Given the description of an element on the screen output the (x, y) to click on. 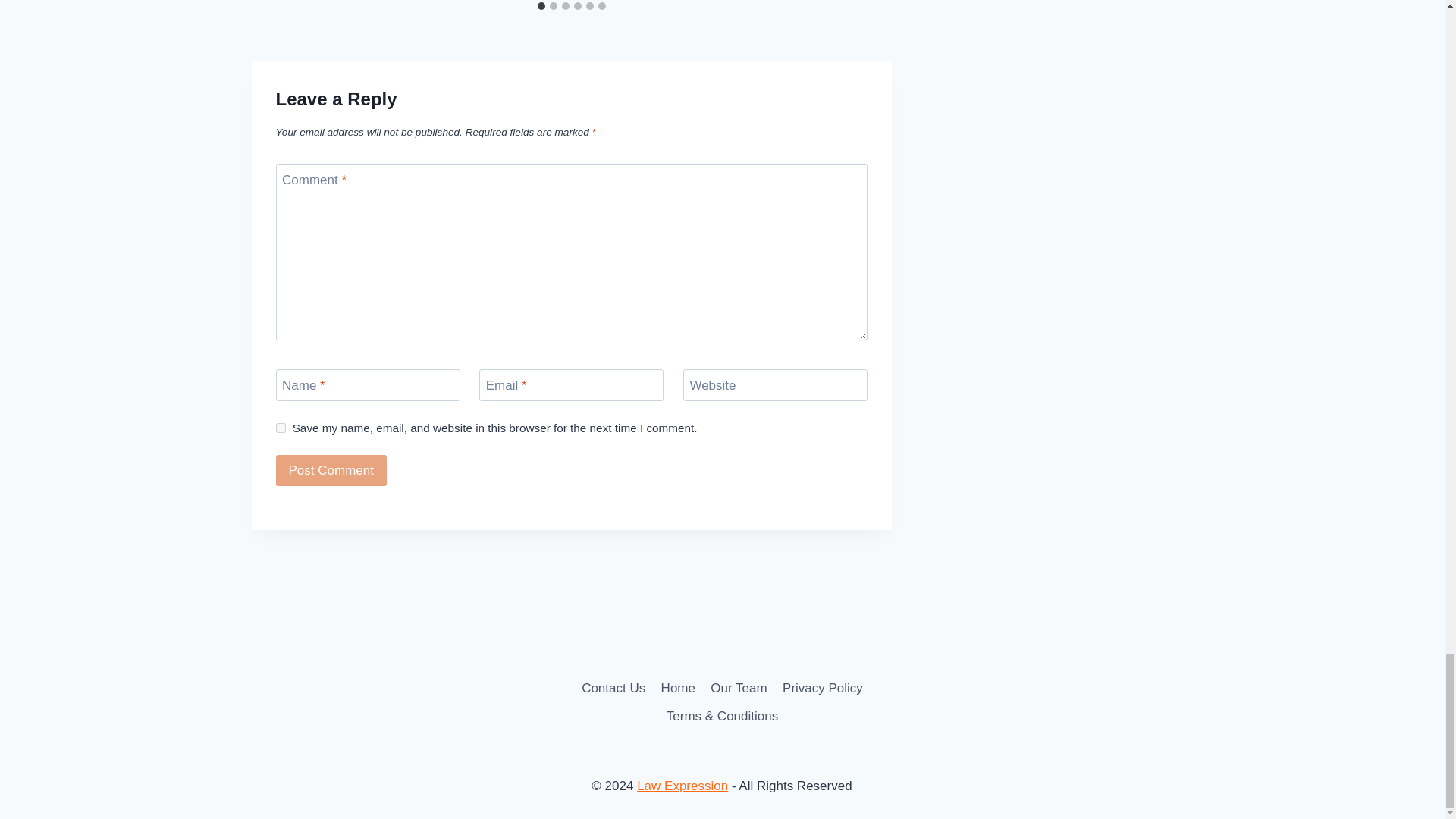
yes (280, 428)
Post Comment (331, 470)
